Given the description of an element on the screen output the (x, y) to click on. 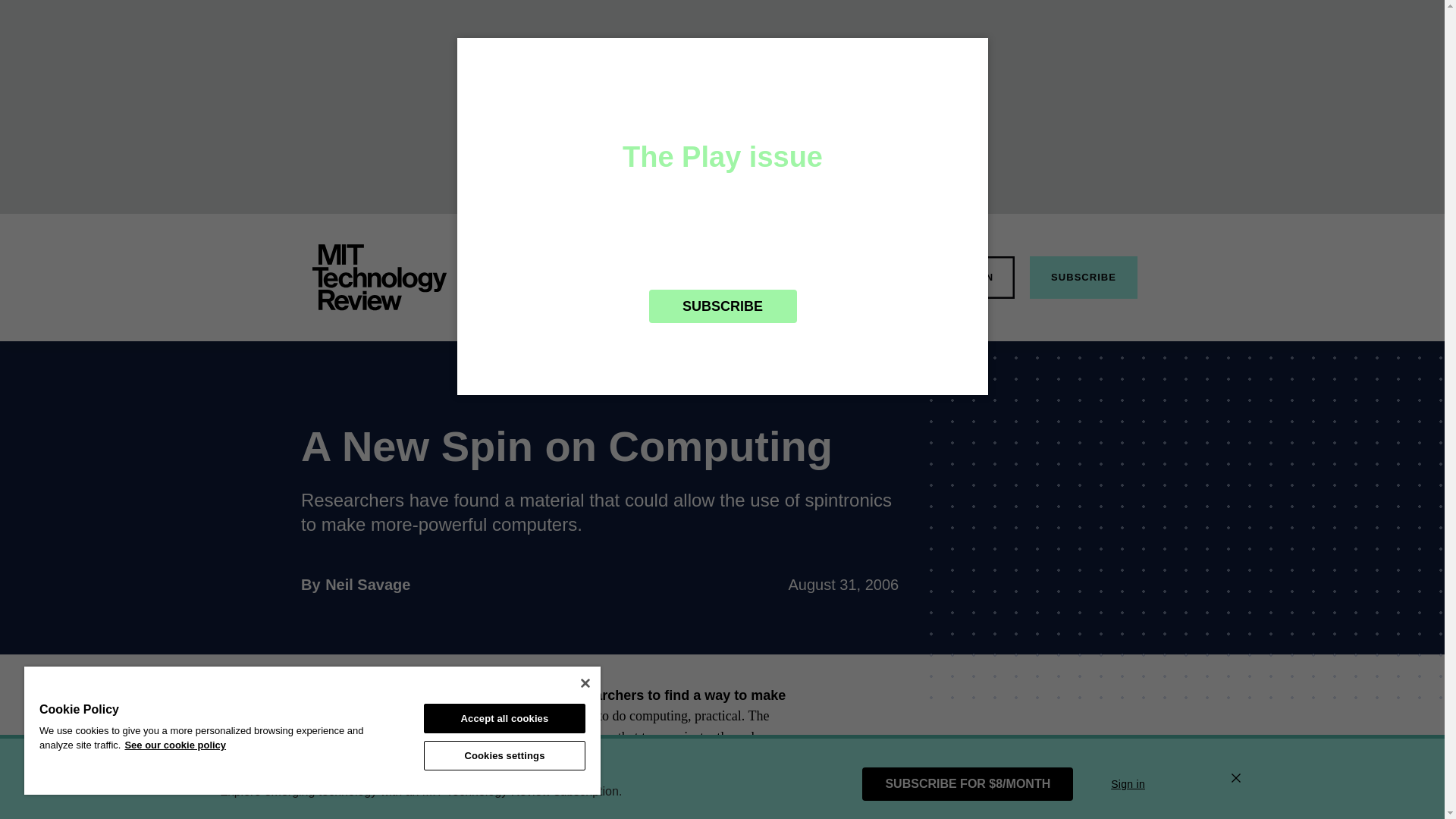
Podcasts (868, 275)
SUBSCRIBE (1083, 277)
MIT Technology Review (367, 584)
Featured (379, 277)
Topics (569, 275)
3rd party ad content (639, 275)
Events (1081, 751)
3rd party ad content (796, 275)
Newsletters (972, 277)
